Given the description of an element on the screen output the (x, y) to click on. 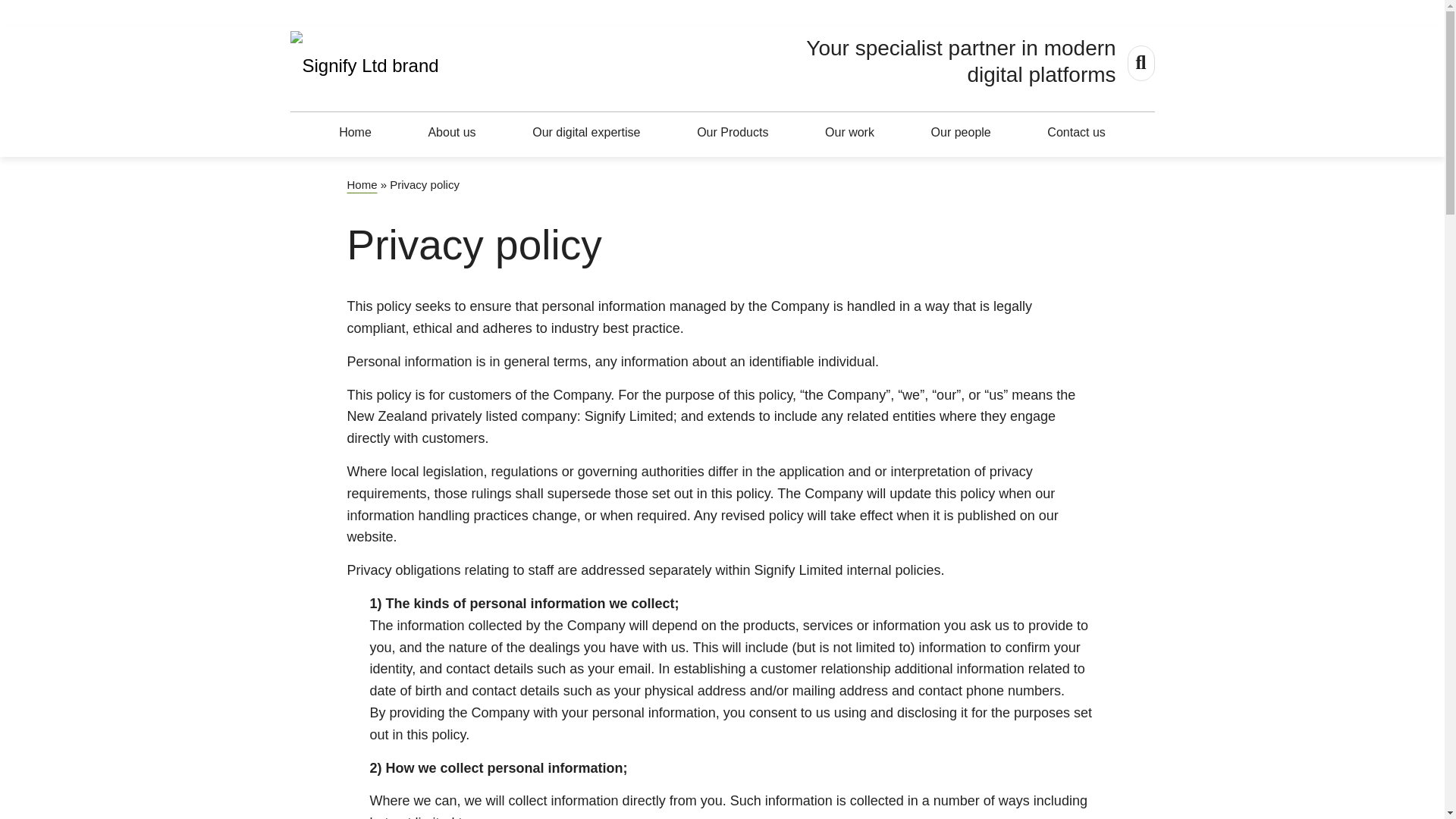
Our Products (732, 131)
Our people (960, 131)
Home (354, 131)
Our people (960, 131)
Our digital expertise (585, 131)
Contact us (1075, 131)
Our Products (732, 131)
Home (362, 184)
About us (451, 131)
About us (451, 131)
